Given the description of an element on the screen output the (x, y) to click on. 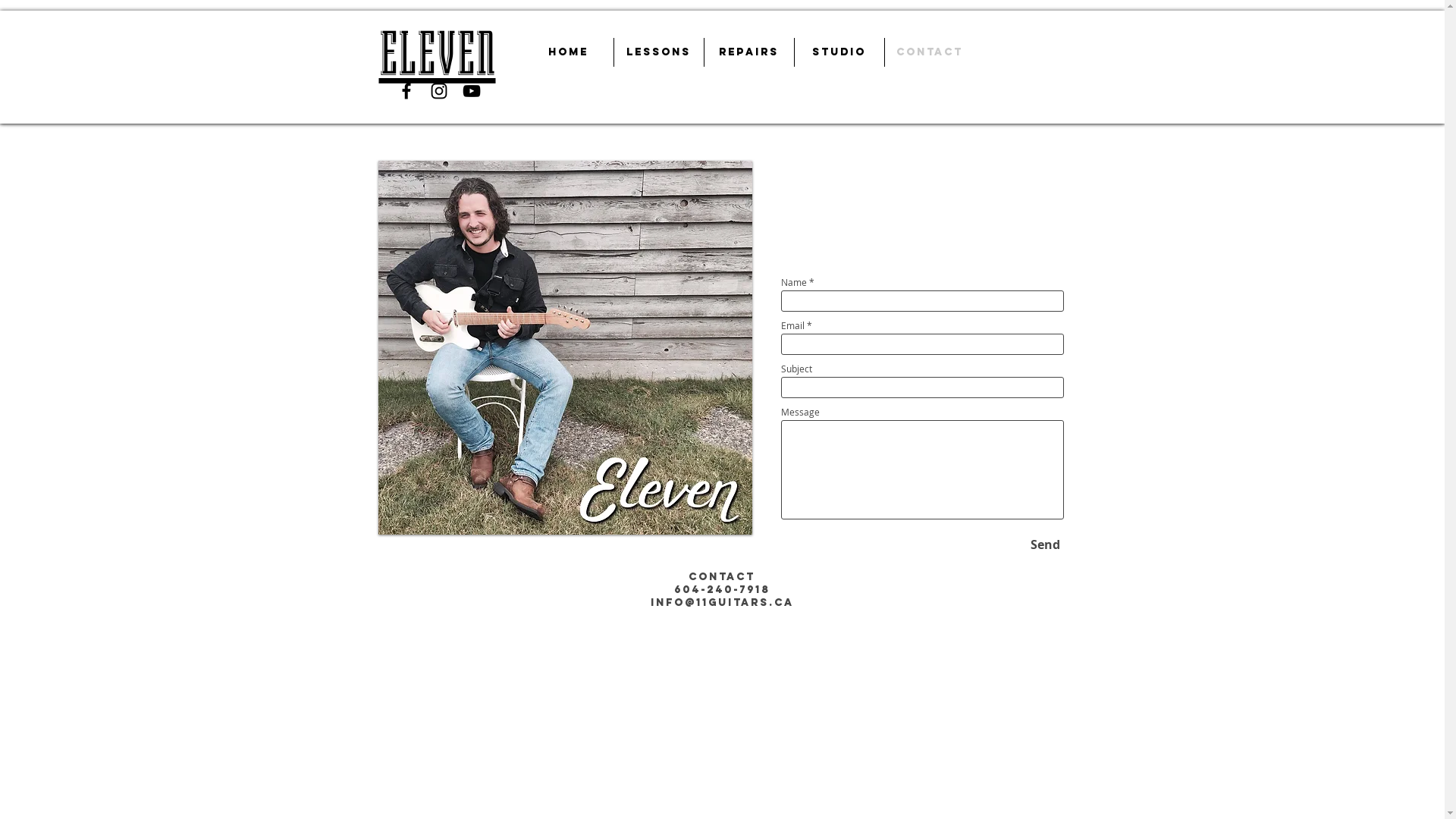
Contact Element type: text (928, 51)
Home Element type: text (568, 51)
ELEVEN Element type: text (437, 57)
Repairs Element type: text (748, 51)
Studio Element type: text (839, 51)
info@11guitars.ca Element type: text (721, 602)
Lessons Element type: text (658, 51)
Send Element type: text (1044, 544)
